Given the description of an element on the screen output the (x, y) to click on. 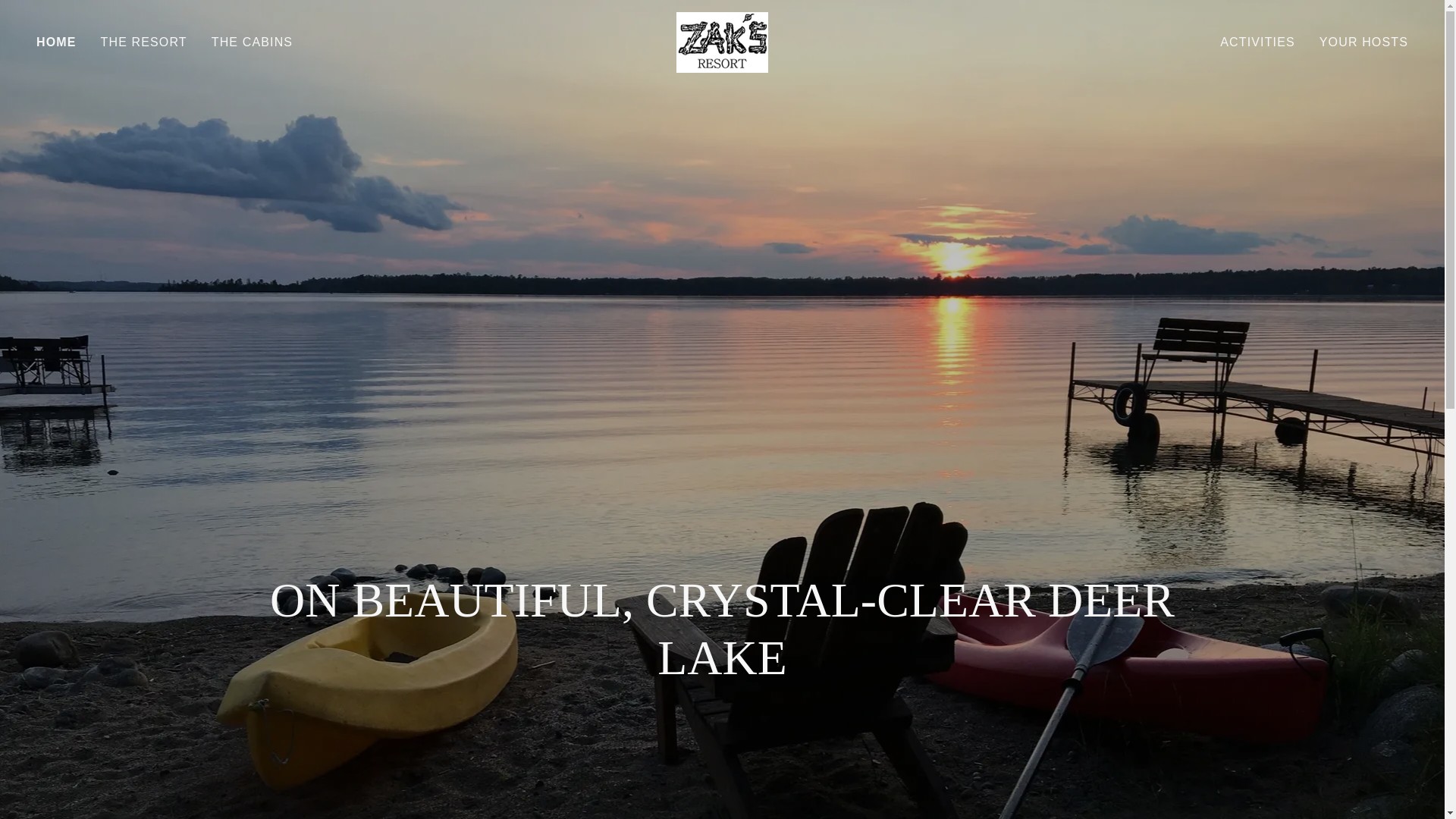
ACTIVITIES (1257, 42)
THE RESORT (144, 42)
THE CABINS (251, 42)
Zak's Resort (722, 41)
HOME (56, 42)
YOUR HOSTS (1363, 42)
